Given the description of an element on the screen output the (x, y) to click on. 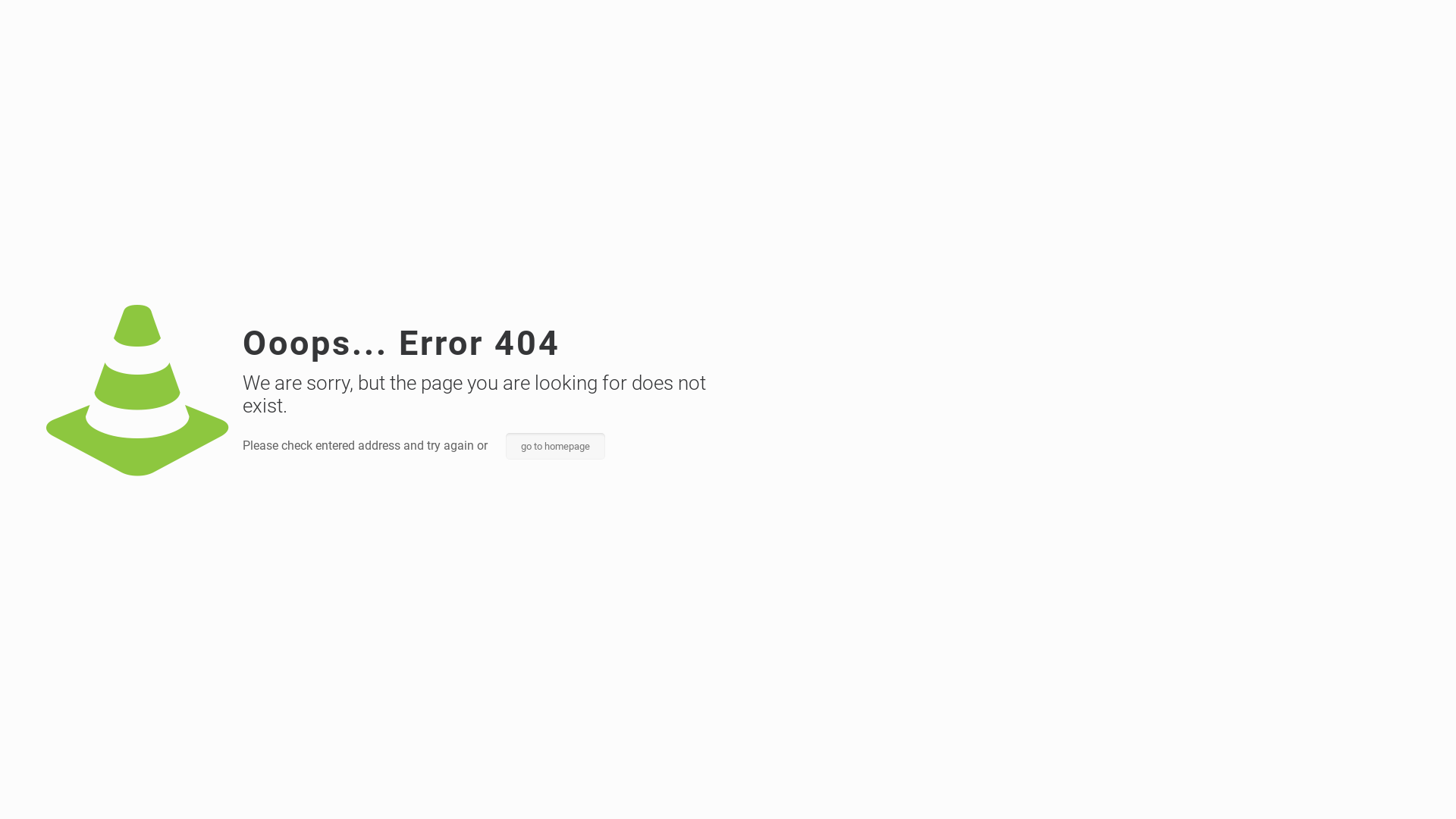
go to homepage Element type: text (555, 446)
